Given the description of an element on the screen output the (x, y) to click on. 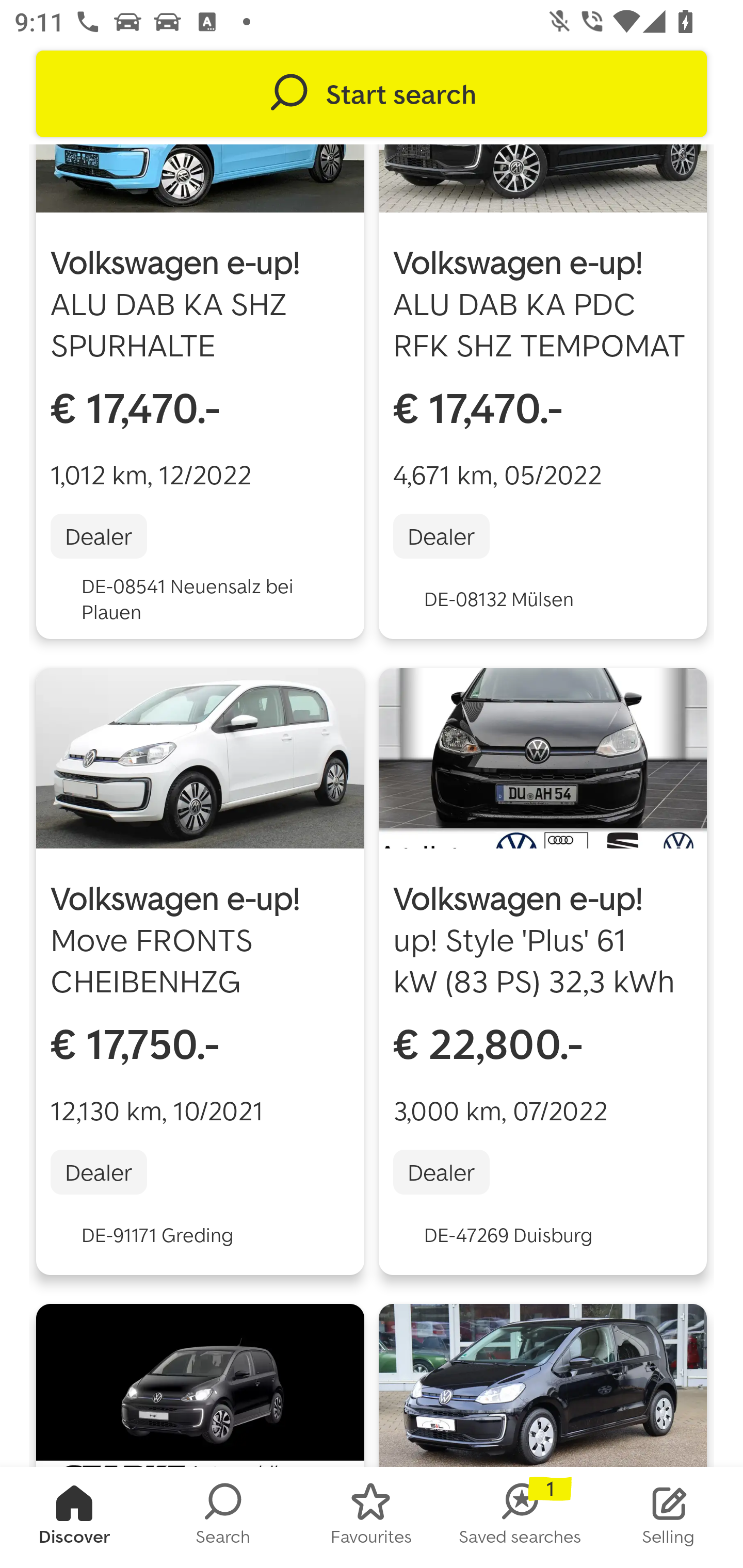
Start search (371, 93)
HOMESCREEN Discover (74, 1517)
SEARCH Search (222, 1517)
FAVORITES Favourites (371, 1517)
SAVED_SEARCHES Saved searches 1 (519, 1517)
STOCK_LIST Selling (668, 1517)
